Given the description of an element on the screen output the (x, y) to click on. 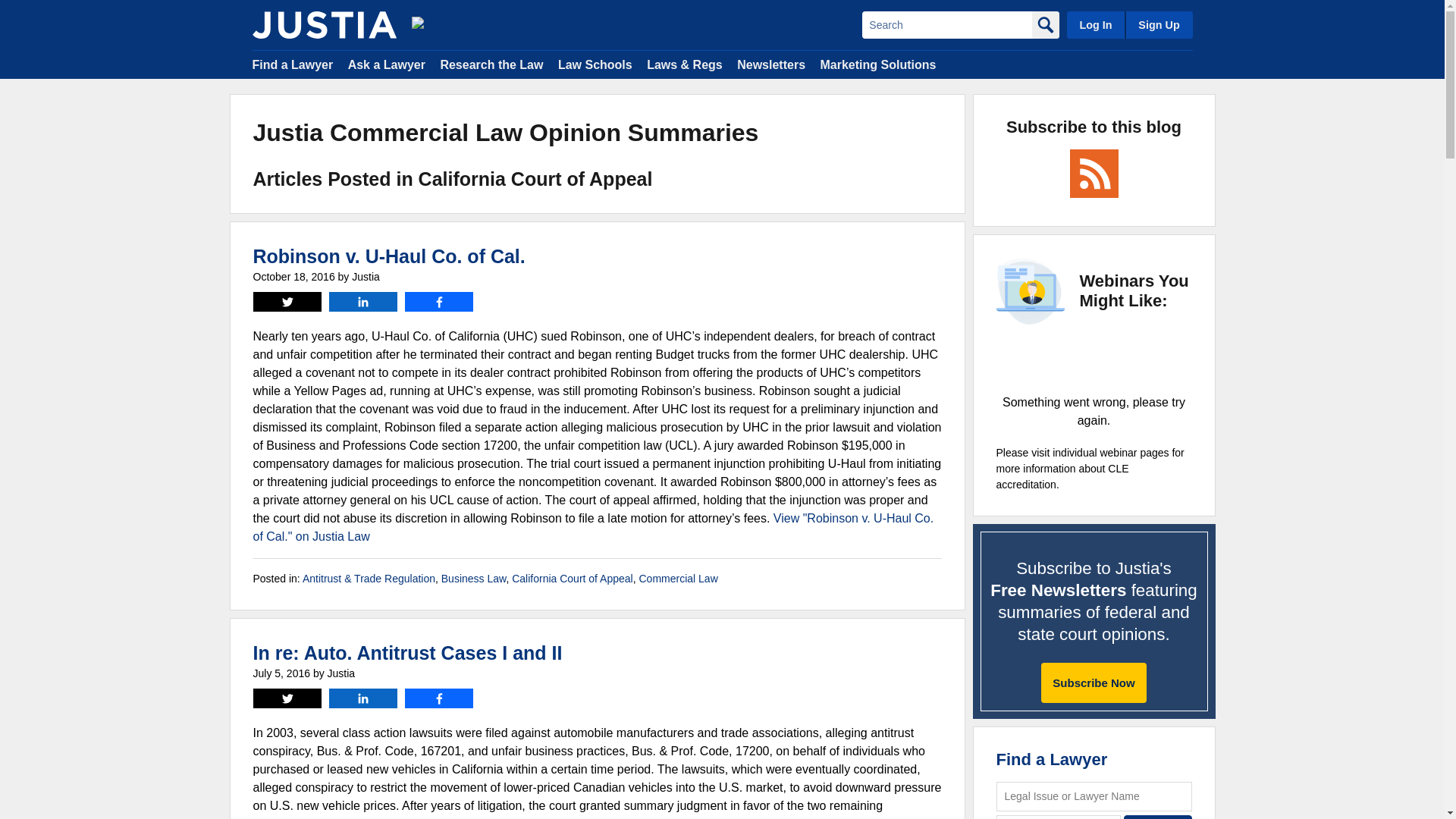
cross (1093, 359)
Newsletters (770, 64)
Ask a Lawyer (386, 64)
Permalink to In re: Auto. Antitrust Cases I and II (407, 652)
Marketing Solutions (877, 64)
Business Law (473, 578)
View all posts in California Court of Appeal (572, 578)
Robinson v. U-Haul Co. of Cal. (389, 255)
Search (1158, 816)
Find a Lawyer (292, 64)
Permalink to Robinson v. U-Haul Co. of Cal. (389, 255)
Sign Up (1158, 24)
Log In (1094, 24)
View all posts in Commercial Law (678, 578)
Legal Issue or Lawyer Name (1093, 796)
